Given the description of an element on the screen output the (x, y) to click on. 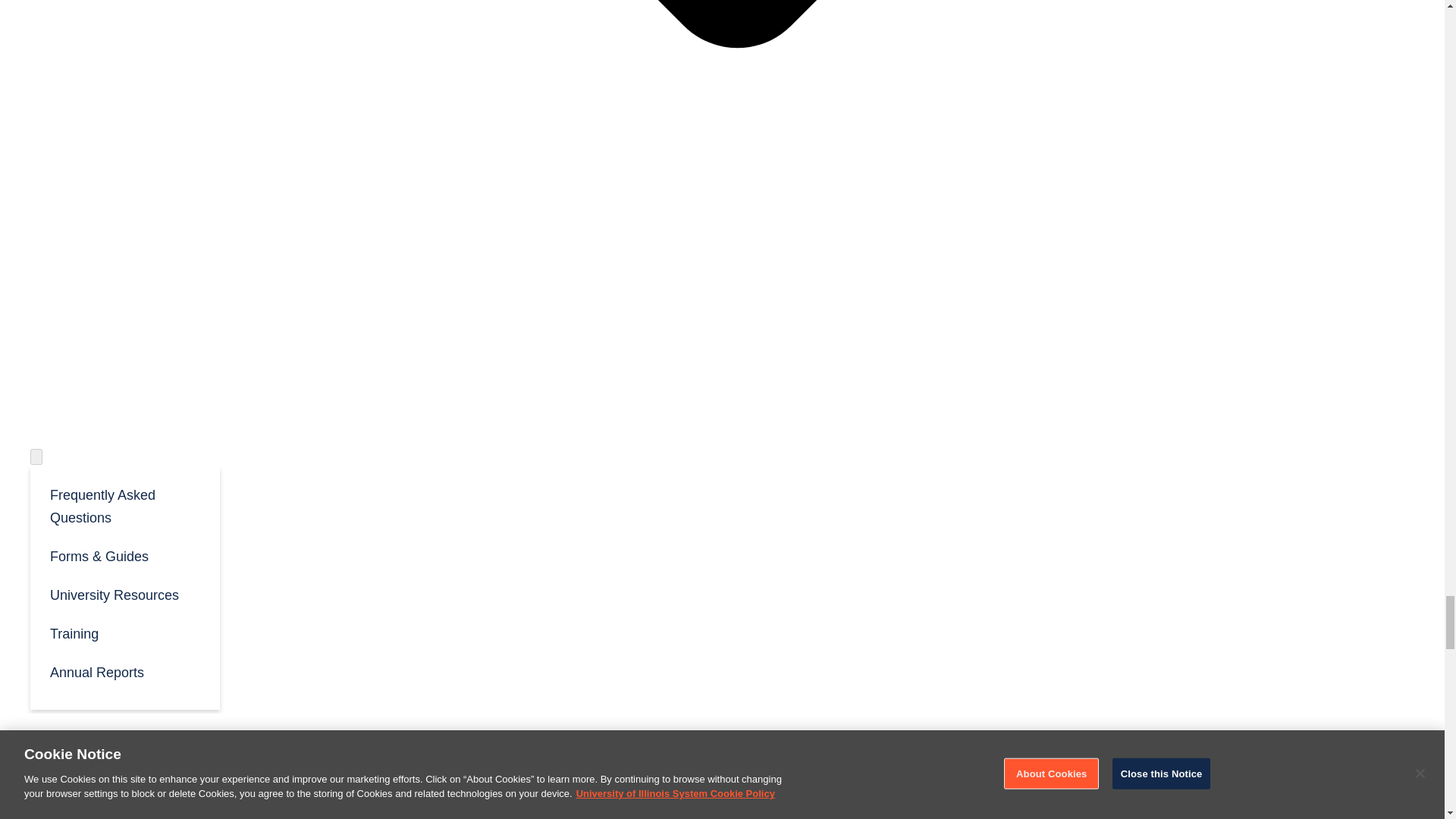
Annual Reports (125, 671)
Home (322, 751)
Frequently Asked Questions (125, 505)
Training (125, 632)
University Resources (125, 593)
